Given the description of an element on the screen output the (x, y) to click on. 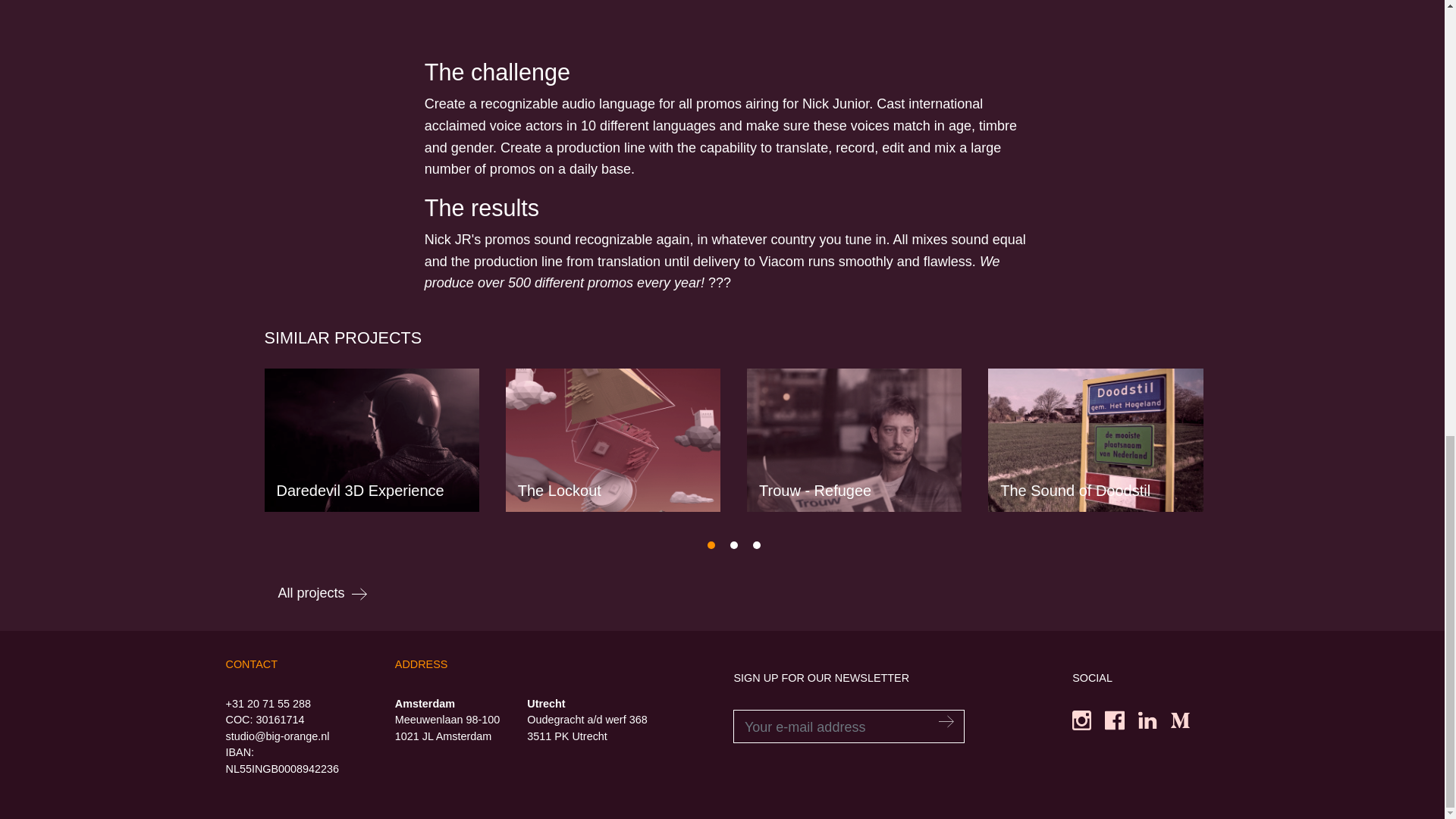
The Sound of Doodstil (1095, 439)
The Lockout (612, 439)
All projects (322, 592)
Trouw - Refugee (853, 439)
Daredevil 3D Experience (371, 439)
